Given the description of an element on the screen output the (x, y) to click on. 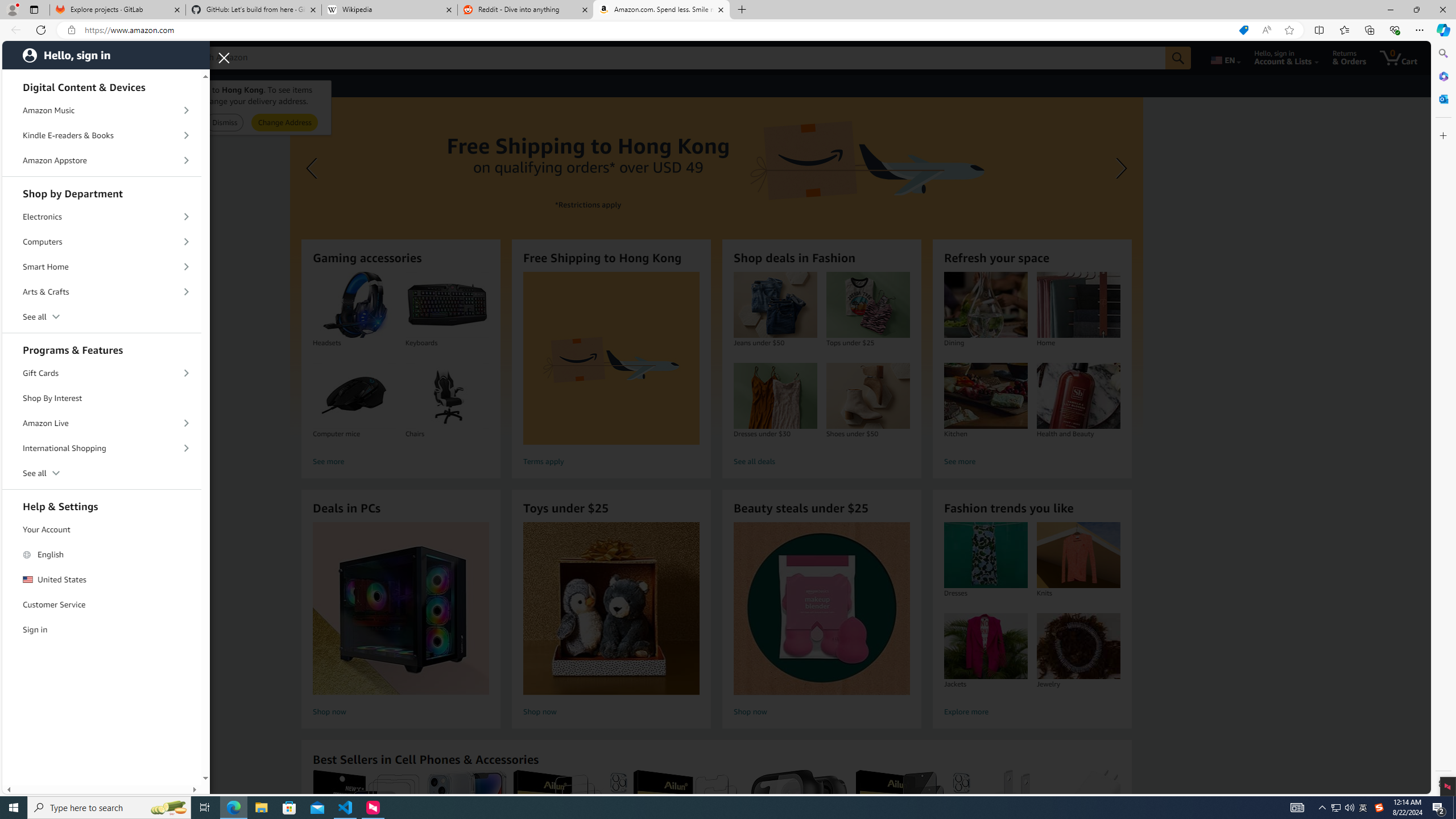
Amazon.com. Spend less. Smile more. (660, 9)
Arts & Crafts (101, 292)
English (101, 554)
Amazon Music (101, 110)
Shop By Interest (101, 398)
Hello, sign in (105, 54)
Kindle E-readers & Books (101, 135)
Sign in (101, 629)
Customer Service (101, 604)
United States (101, 579)
